Given the description of an element on the screen output the (x, y) to click on. 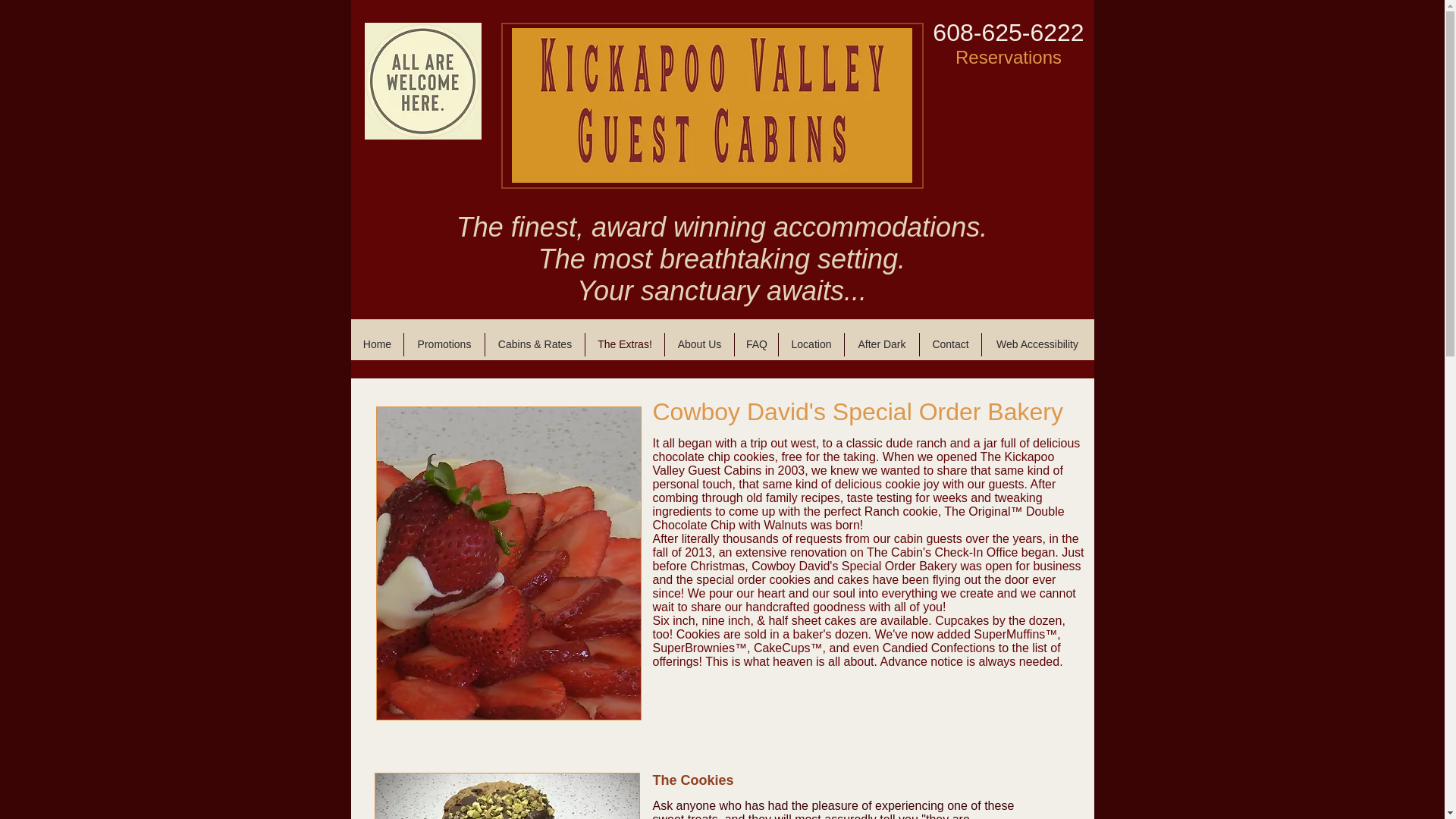
FAQ (756, 344)
The Extras! (624, 344)
Promotions (444, 344)
About Us (699, 344)
Web Accessibility (1037, 344)
Home (376, 344)
Contact (950, 344)
Location (811, 344)
After Dark (881, 344)
